Given the description of an element on the screen output the (x, y) to click on. 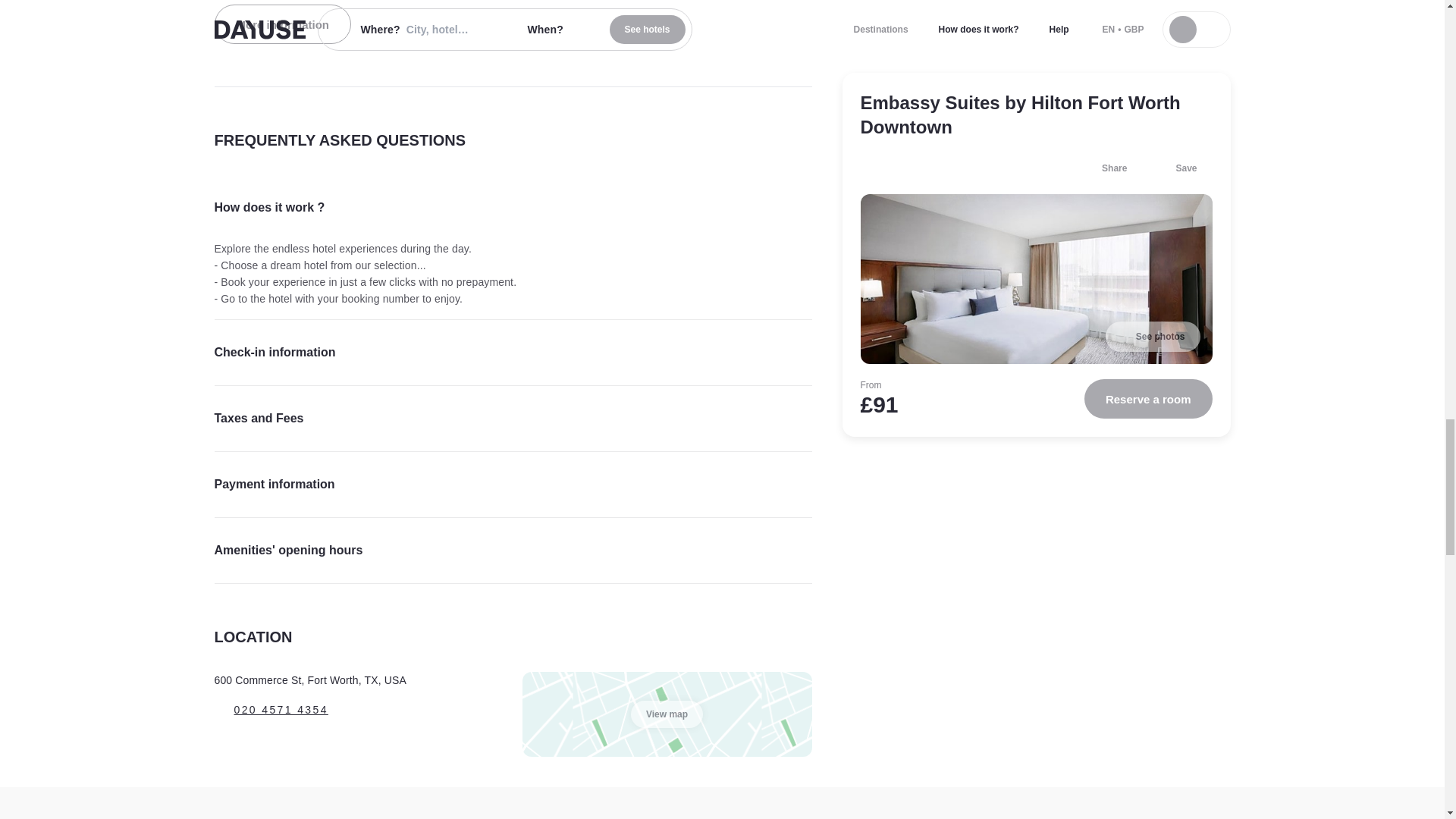
Taxes and Fees (512, 418)
More information (282, 24)
Check-in information (512, 352)
How does it work ? (512, 207)
